Given the description of an element on the screen output the (x, y) to click on. 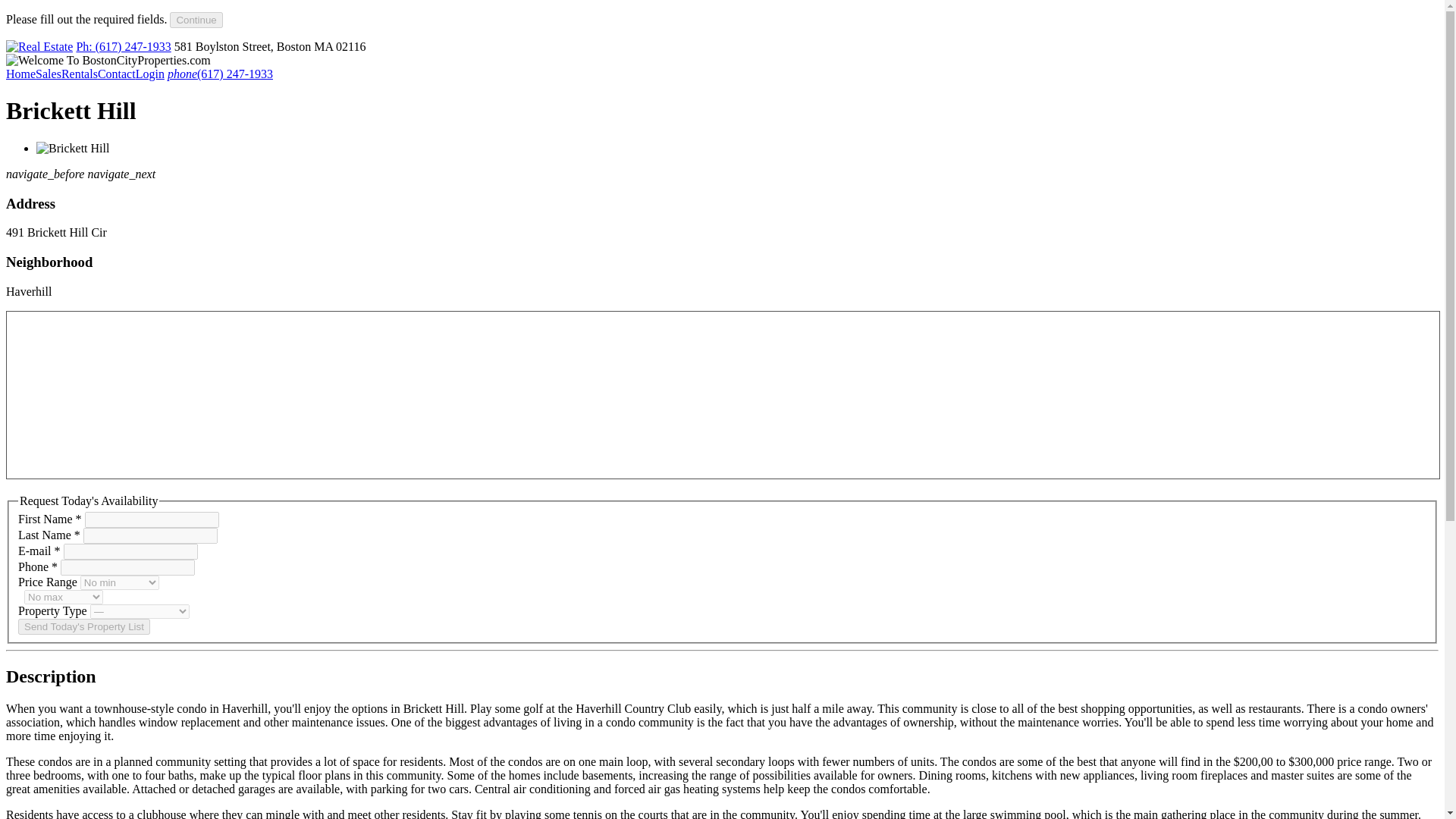
Sales (47, 73)
Home (19, 73)
Contact (116, 73)
Rentals (79, 73)
Login (149, 73)
Send Today's Property List (83, 626)
Continue (196, 19)
